Given the description of an element on the screen output the (x, y) to click on. 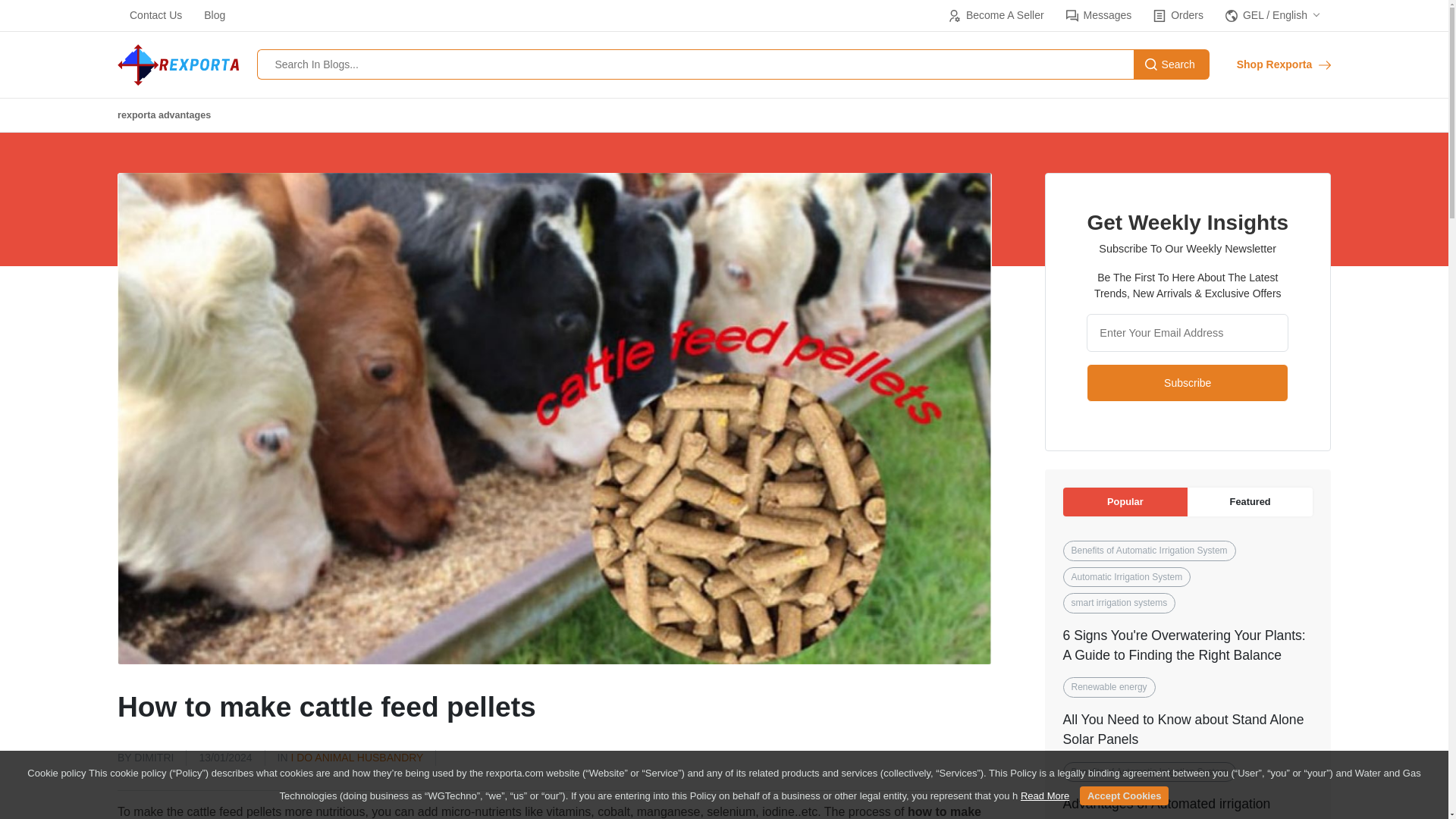
Rexporta (177, 64)
rexporta advantages (164, 115)
Automatic Irrigation System (1126, 577)
Subscribe (1187, 382)
Messages (1097, 15)
Contact Us (154, 15)
Search (1171, 64)
Benefits of Automatic Irrigation System (1149, 772)
Orders (1176, 15)
smart irrigation systems (1119, 602)
Search (1171, 64)
Popular (1125, 501)
All You Need to Know about Stand Alone Solar Panels (1183, 728)
Benefits of Automatic Irrigation System (1149, 550)
